Given the description of an element on the screen output the (x, y) to click on. 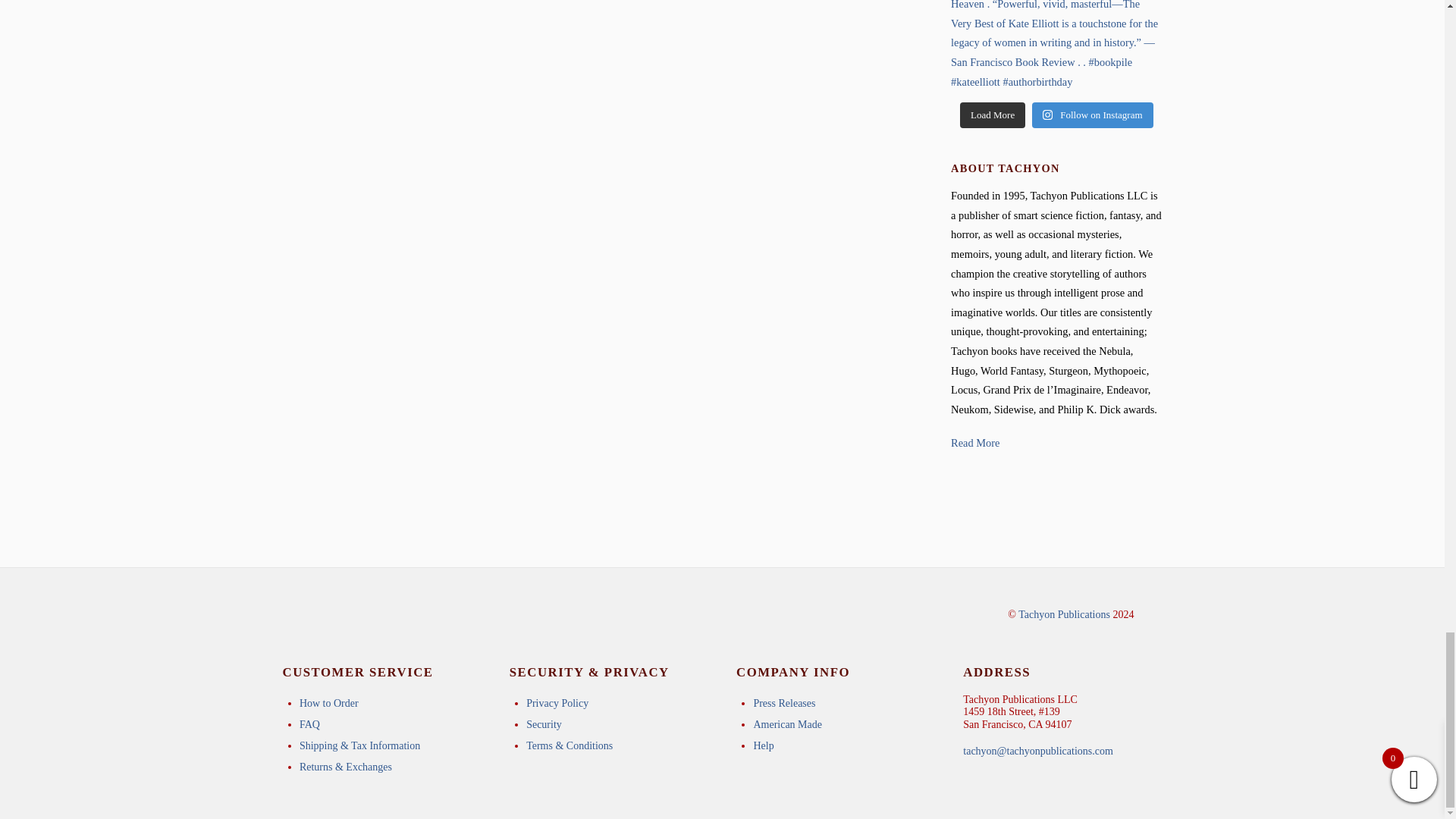
Frequently Asked Questions (309, 724)
Press Releases (783, 703)
How to Order (328, 703)
Security (543, 724)
Privacy Policy (556, 703)
